Given the description of an element on the screen output the (x, y) to click on. 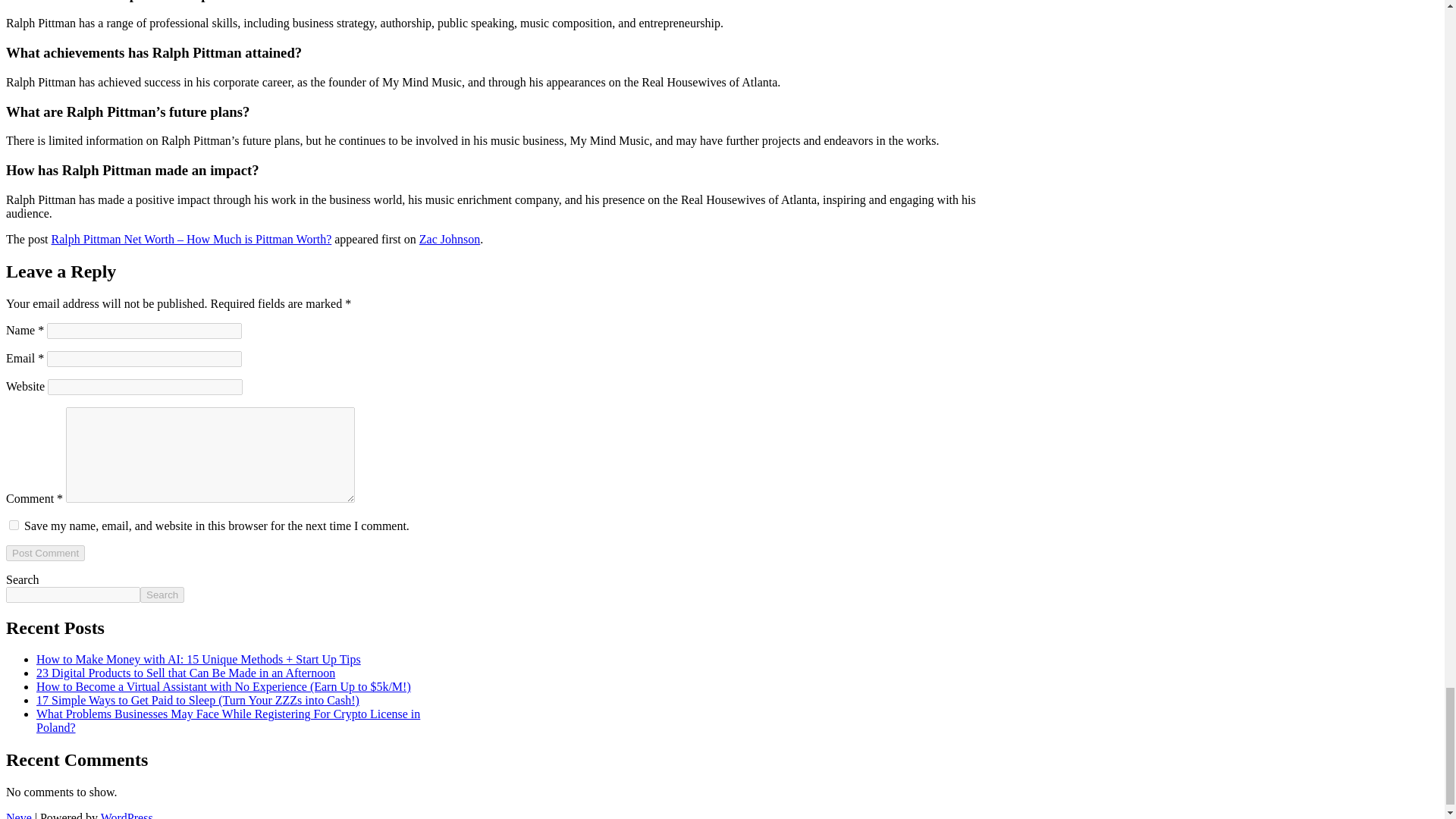
yes (13, 524)
Search (161, 594)
Post Comment (44, 553)
Zac Johnson (449, 238)
Post Comment (44, 553)
23 Digital Products to Sell that Can Be Made in an Afternoon (185, 672)
